Given the description of an element on the screen output the (x, y) to click on. 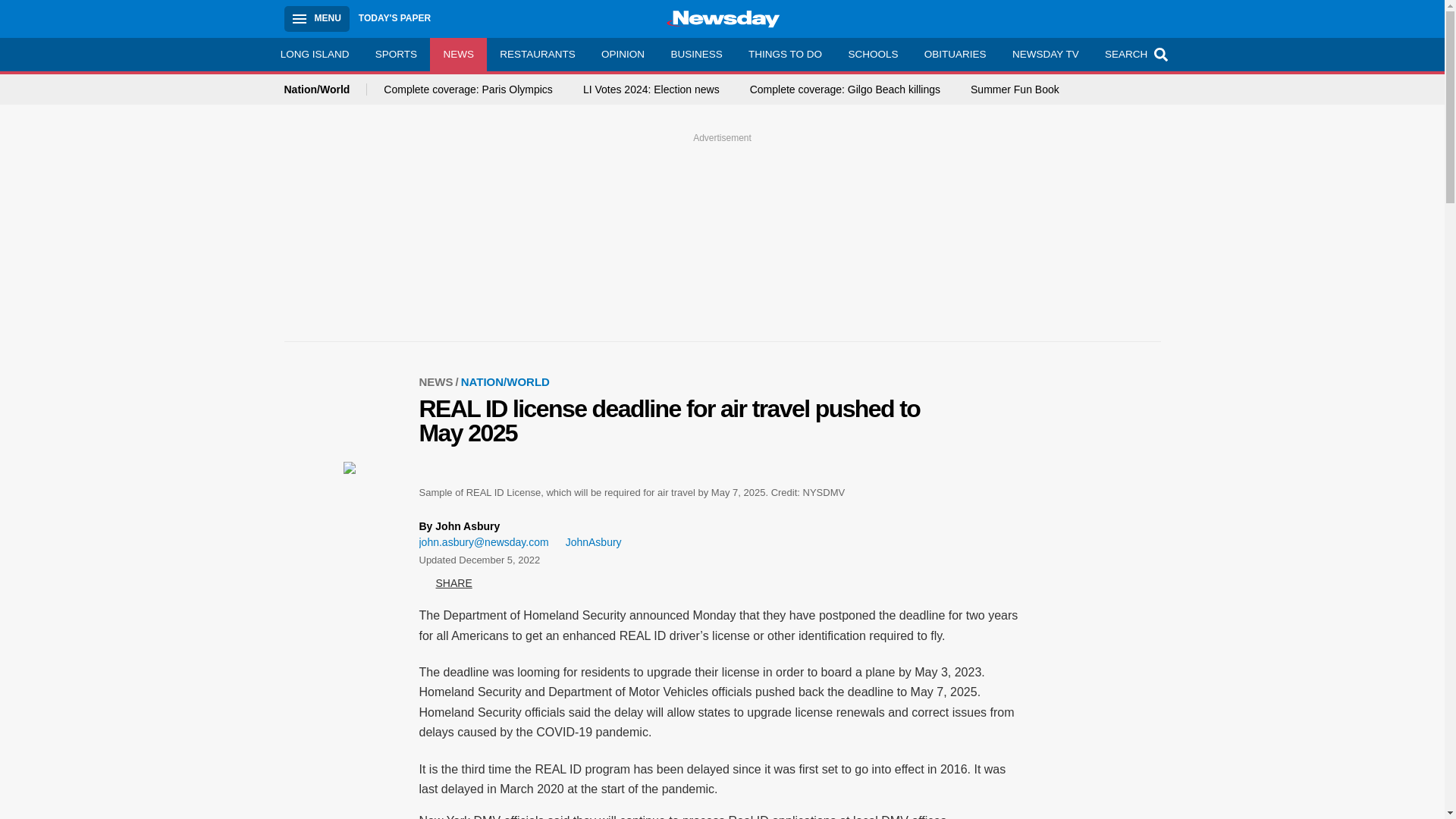
SHARE (445, 582)
TODAY'S PAPER (394, 18)
BUSINESS (696, 54)
OBITUARIES (954, 54)
LONG ISLAND (313, 54)
MENU (316, 18)
NEWS (439, 381)
JohnAsbury (587, 542)
THINGS TO DO (784, 54)
SCHOOLS (872, 54)
NEWS (457, 54)
NEWSDAY TV (1045, 54)
SEARCH (1134, 54)
Complete coverage: Gilgo Beach killings (844, 89)
Complete coverage: Paris Olympics (468, 89)
